Given the description of an element on the screen output the (x, y) to click on. 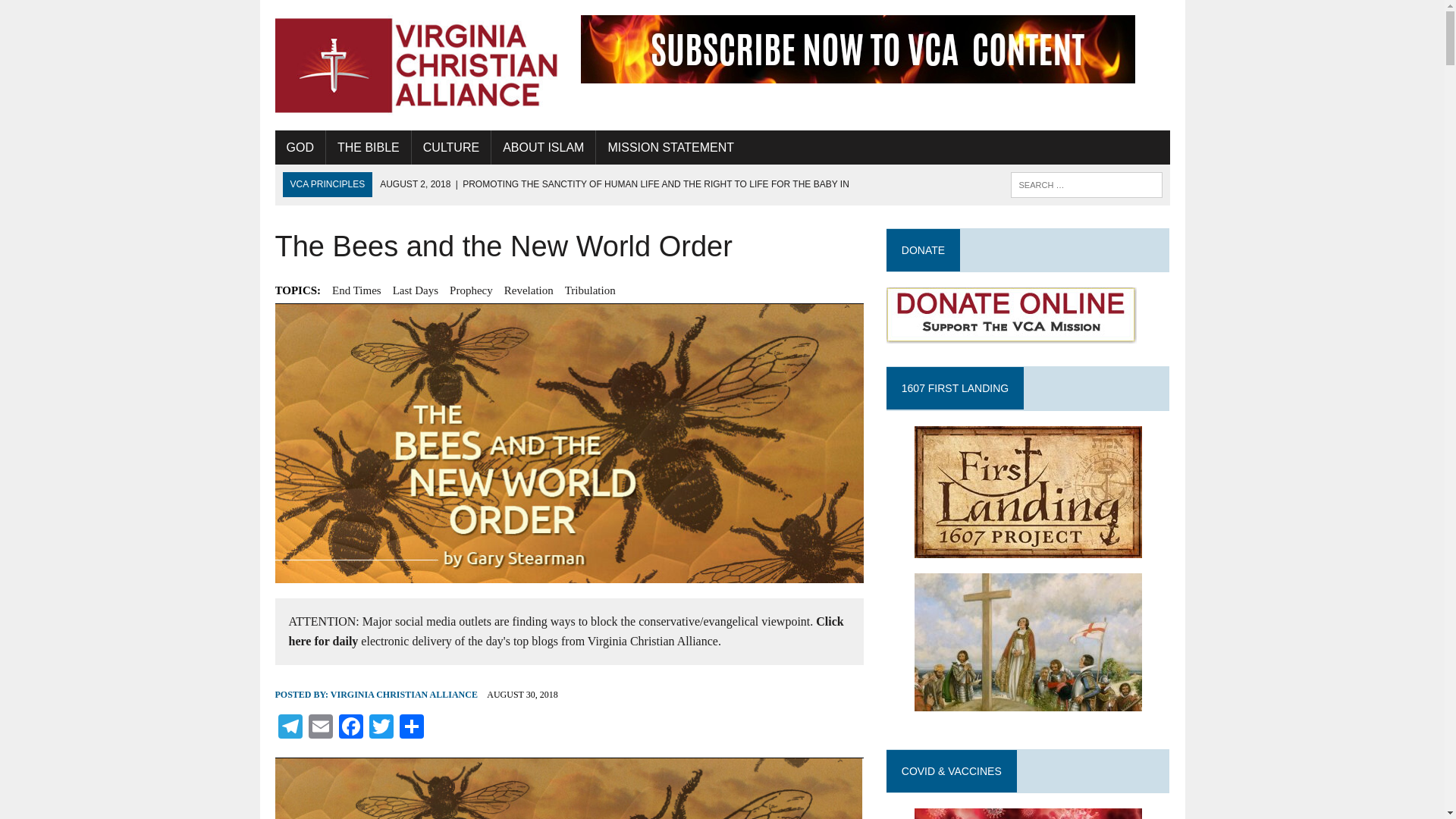
GOD (299, 147)
Virginia Christian Alliance (416, 65)
ABOUT ISLAM (543, 147)
THE BIBLE (368, 147)
Email (319, 728)
MISSION STATEMENT (670, 147)
Telegram (289, 728)
Facebook (349, 728)
CULTURE (451, 147)
